Given the description of an element on the screen output the (x, y) to click on. 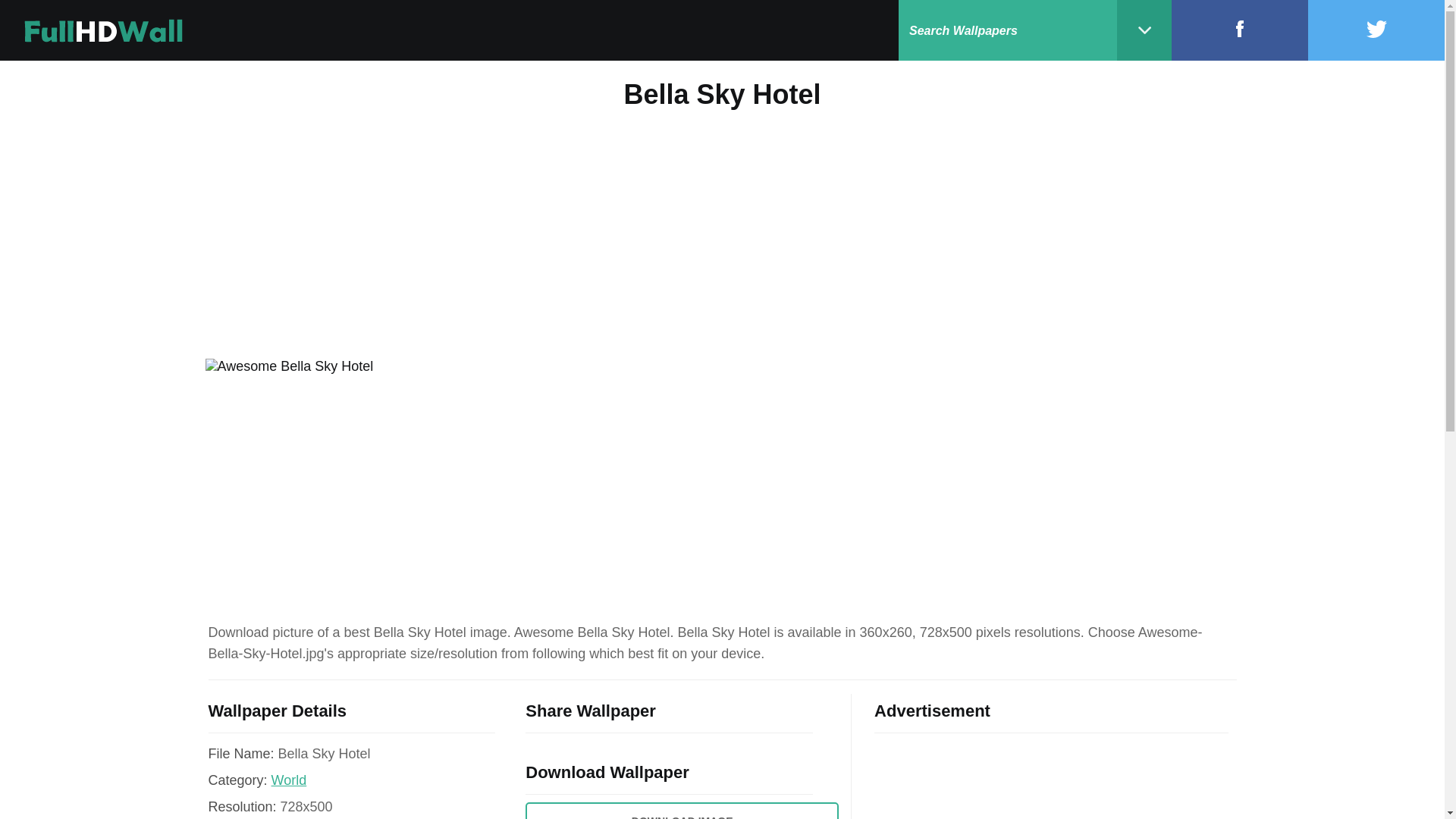
View all posts in World (288, 780)
